Given the description of an element on the screen output the (x, y) to click on. 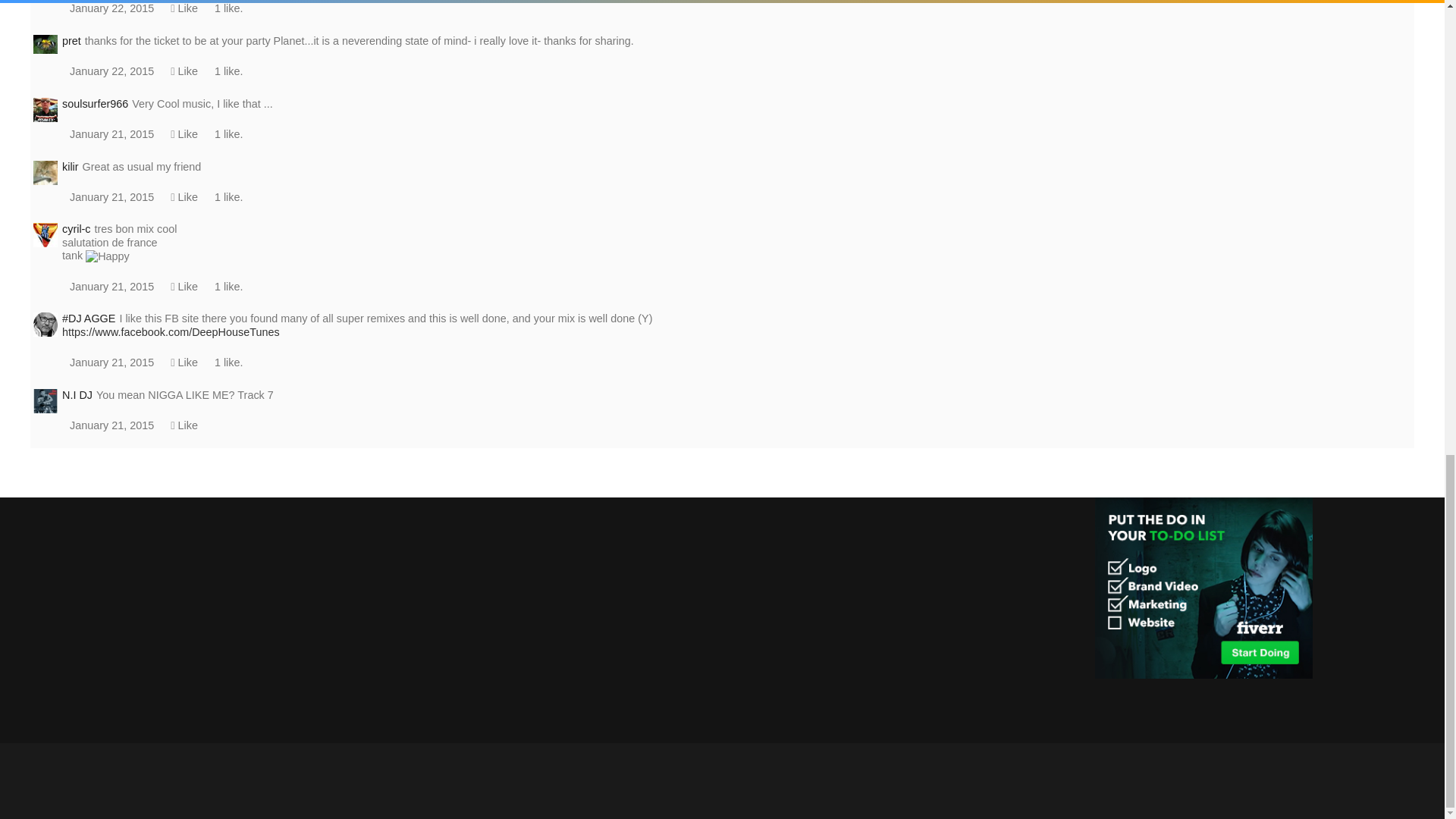
soulsurfer966 (45, 108)
pret (45, 44)
pret (45, 42)
